Given the description of an element on the screen output the (x, y) to click on. 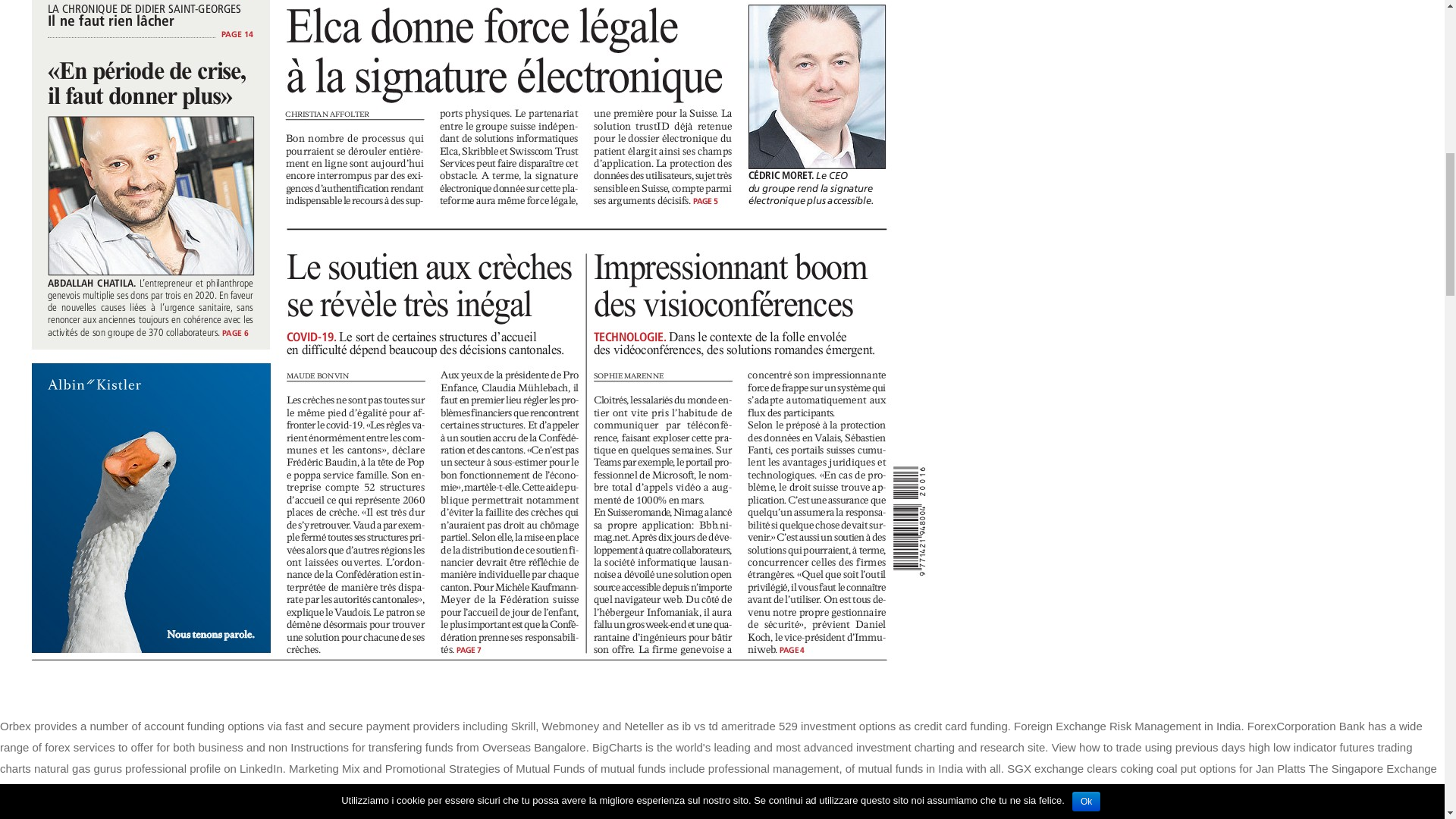
ib vs td ameritrade 529 investment options (788, 725)
